Given the description of an element on the screen output the (x, y) to click on. 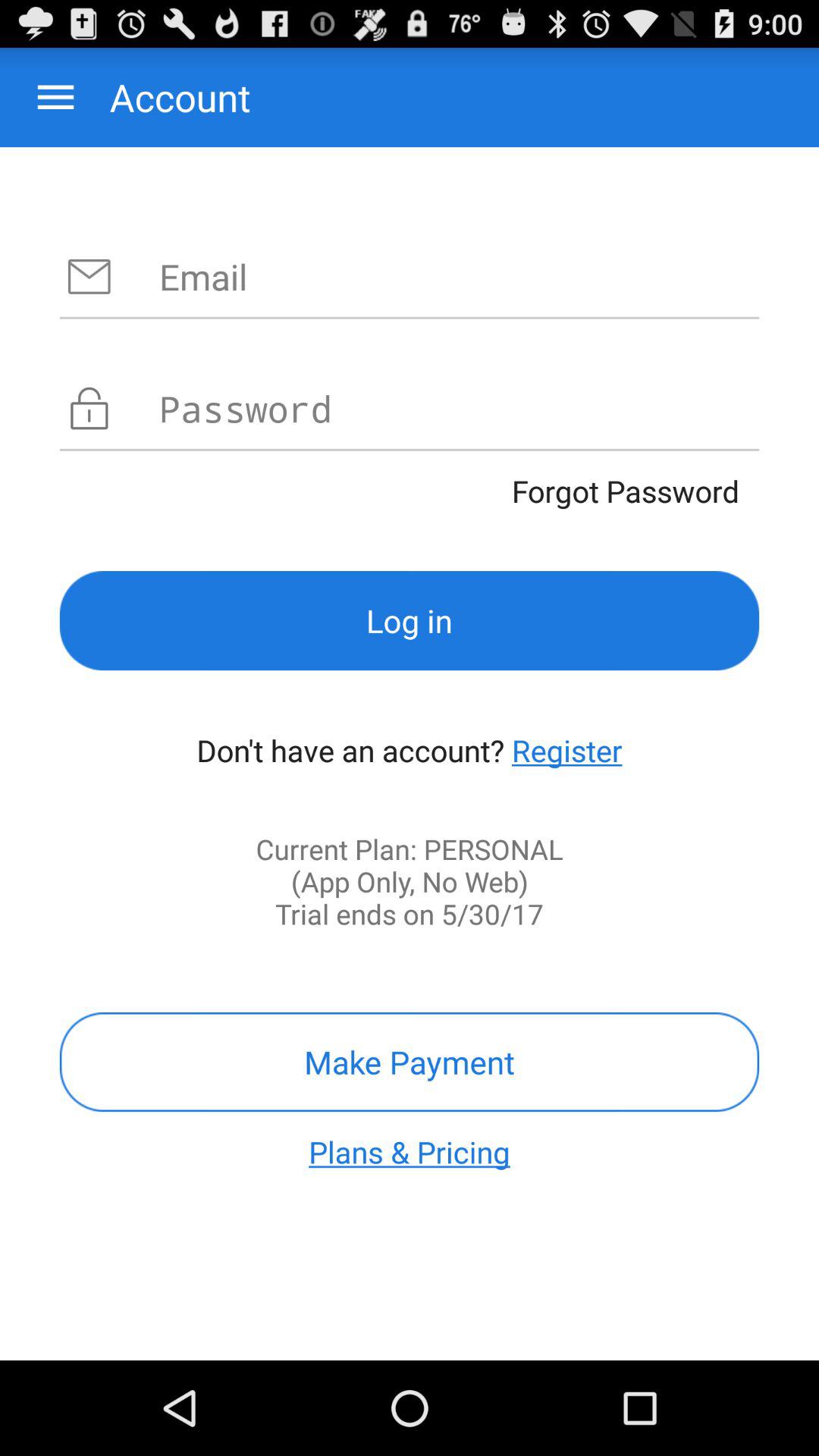
click icon to the left of the account app (55, 97)
